Given the description of an element on the screen output the (x, y) to click on. 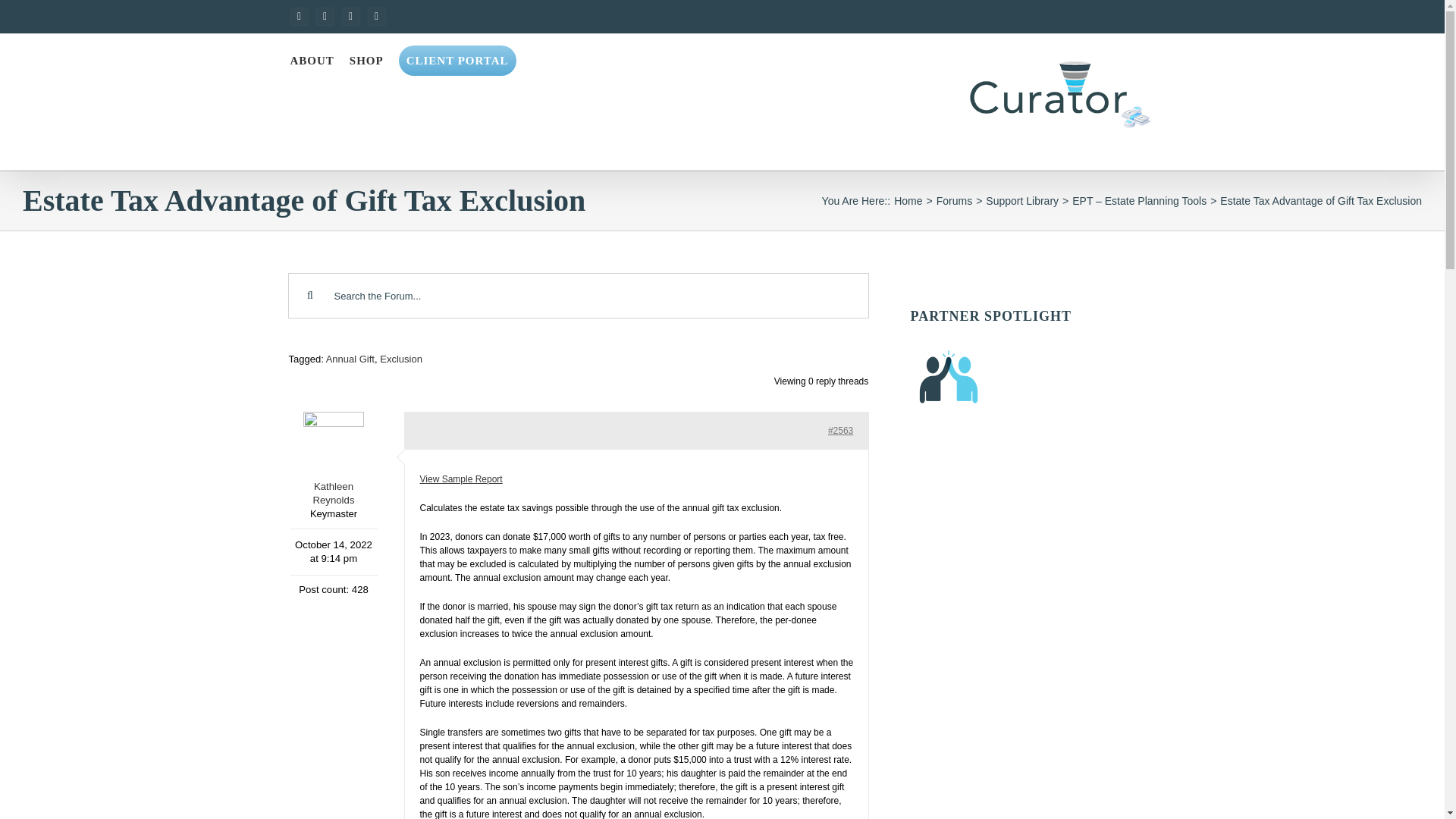
SHOP (366, 60)
Exclusion (401, 358)
Twitter (349, 16)
Facebook (298, 16)
Instagram (375, 16)
Forums (954, 200)
Twitter (349, 16)
LinkedIn (324, 16)
LinkedIn (324, 16)
Facebook (298, 16)
